Given the description of an element on the screen output the (x, y) to click on. 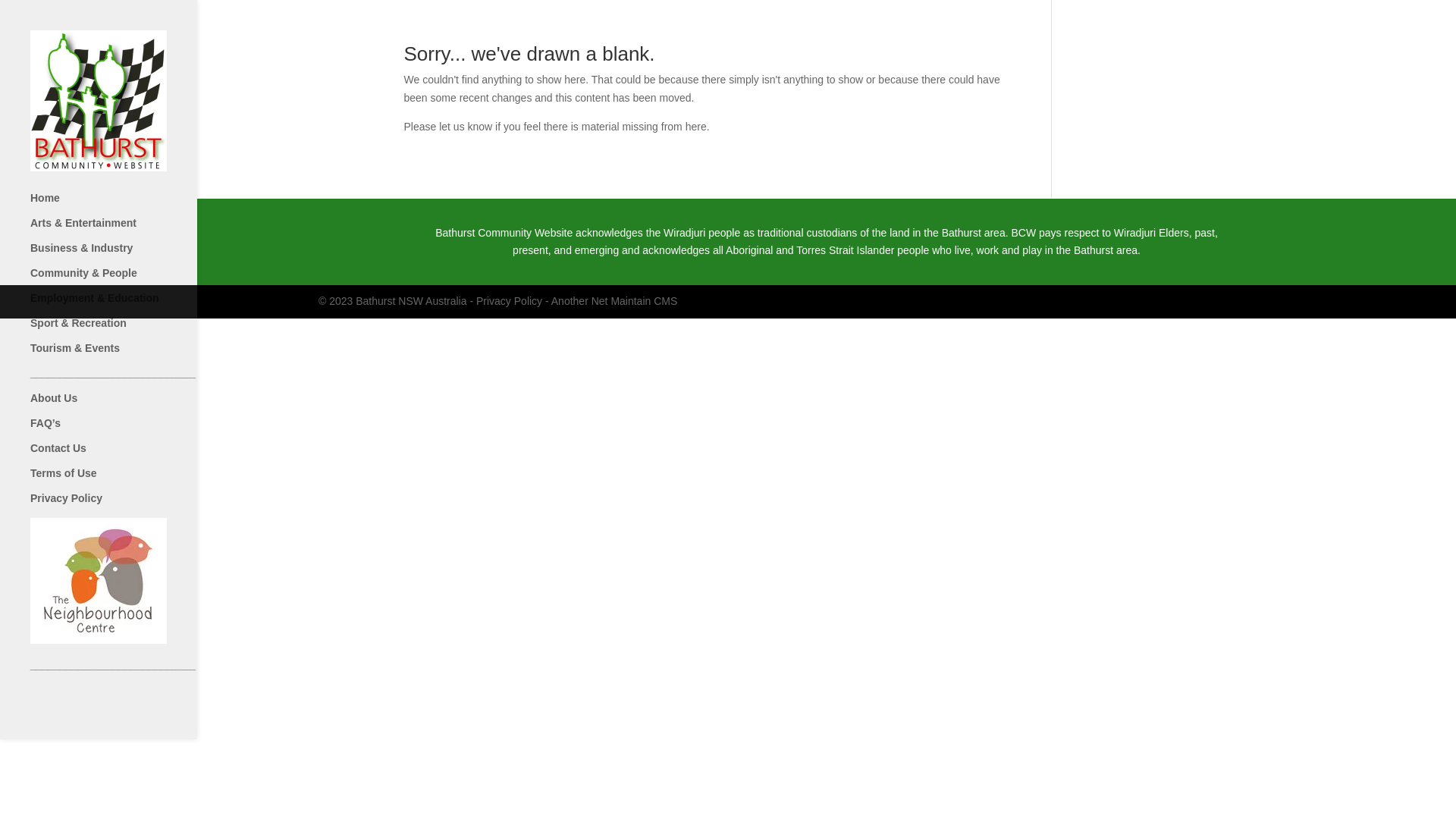
Terms of Use Element type: text (127, 479)
Net Maintain Element type: text (621, 300)
Privacy Policy Element type: text (509, 300)
____________________________ Element type: text (127, 671)
Tourism & Events Element type: text (127, 354)
Community & People Element type: text (127, 278)
Sport & Recreation Element type: text (127, 329)
Business & Industry Element type: text (127, 254)
Home Element type: text (127, 204)
Contact Us Element type: text (127, 454)
About Us Element type: text (127, 404)
Arts & Entertainment Element type: text (127, 228)
____________________________ Element type: text (127, 379)
Privacy Policy Element type: text (127, 504)
Employment & Education Element type: text (127, 304)
